Given the description of an element on the screen output the (x, y) to click on. 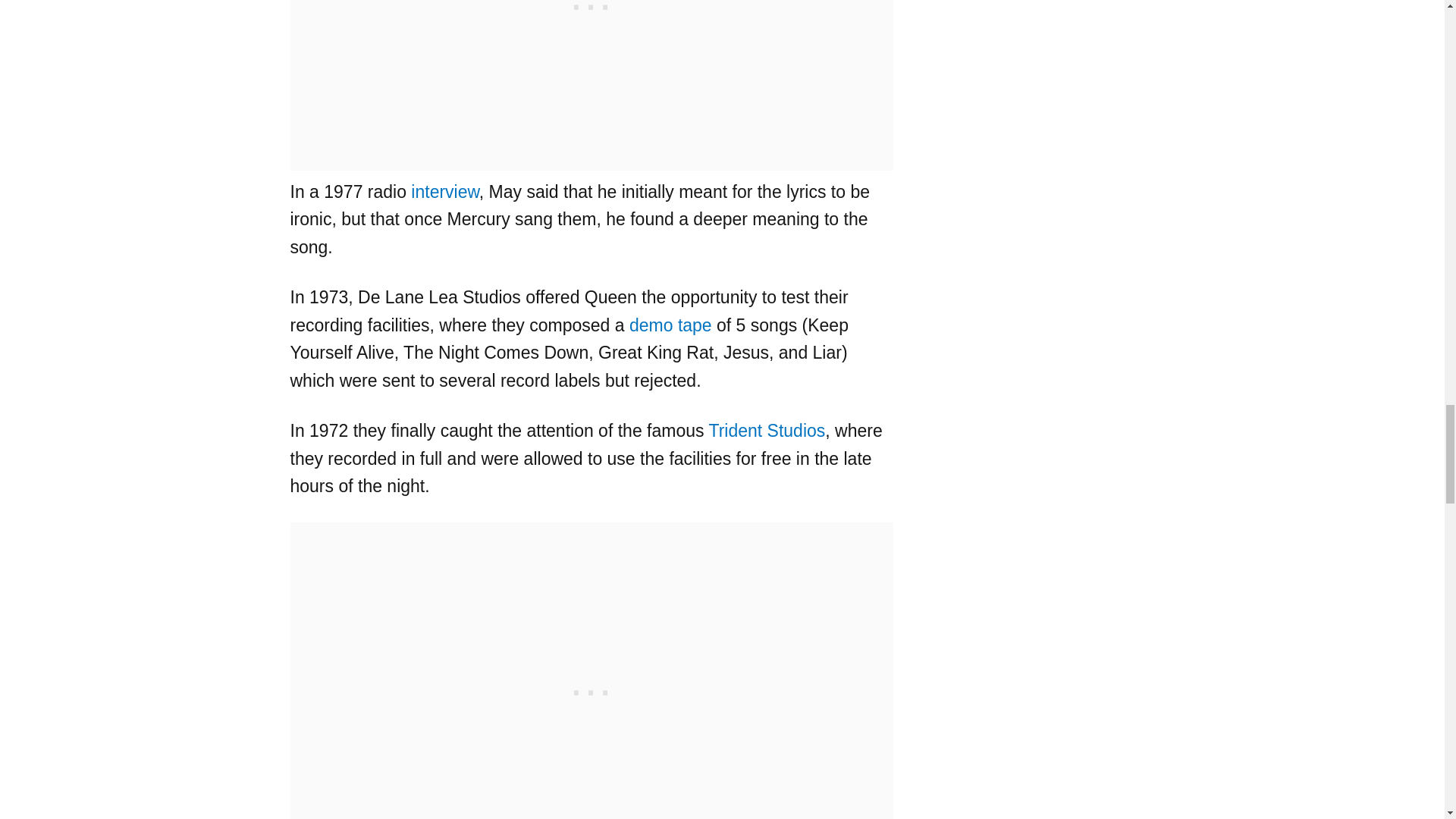
demo tape (669, 324)
Trident Studios (766, 430)
interview (444, 191)
